Given the description of an element on the screen output the (x, y) to click on. 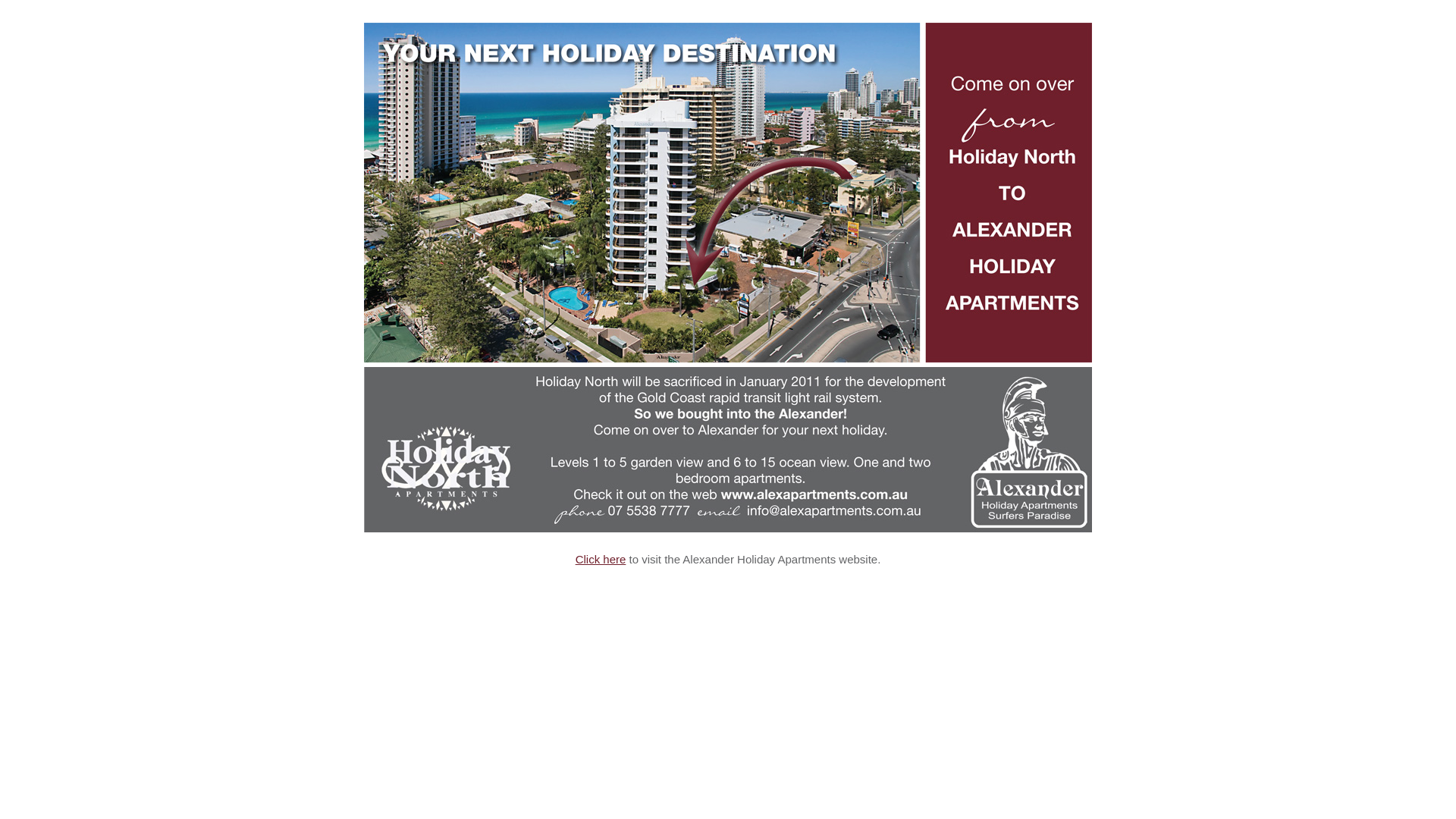
Click here Element type: text (600, 558)
